Given the description of an element on the screen output the (x, y) to click on. 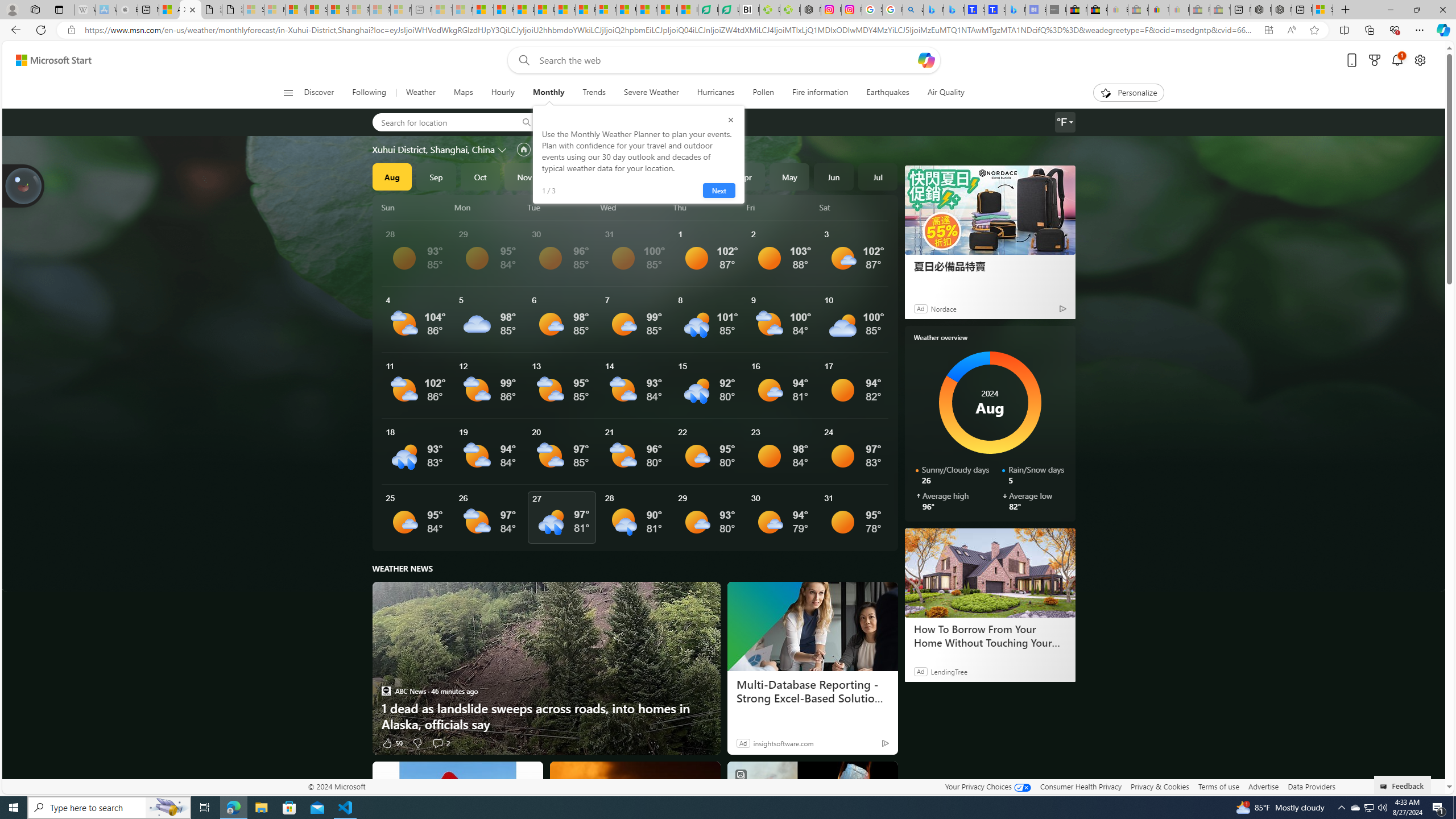
Severe Weather (651, 92)
Maps (462, 92)
Press Room - eBay Inc. - Sleeping (1199, 9)
59 Like (392, 742)
Join us in planting real trees to help our planet! (23, 184)
Fri (780, 207)
